Given the description of an element on the screen output the (x, y) to click on. 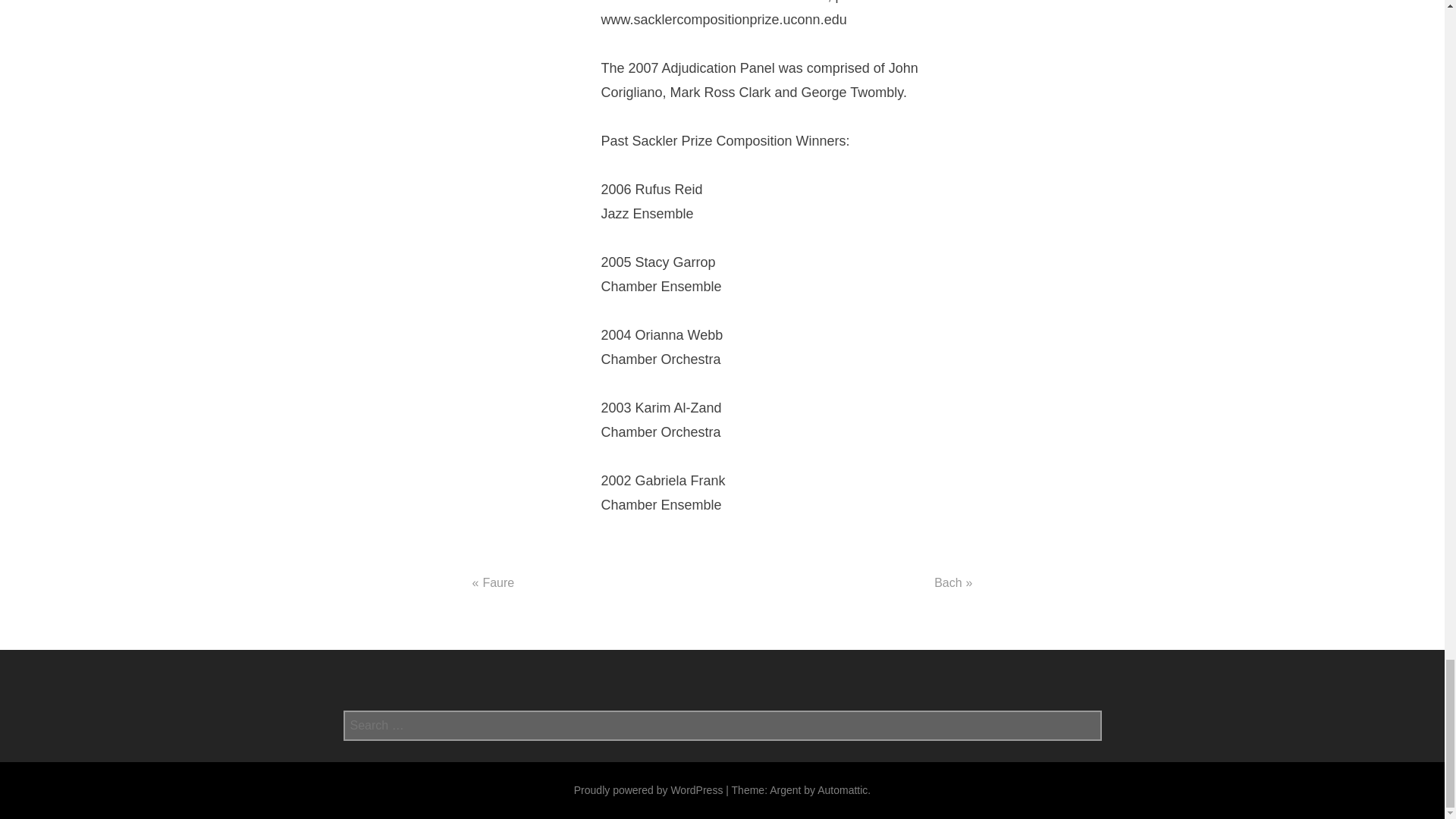
Automattic (841, 789)
Bach (947, 582)
Faure (497, 582)
Proudly powered by WordPress (648, 789)
